Given the description of an element on the screen output the (x, y) to click on. 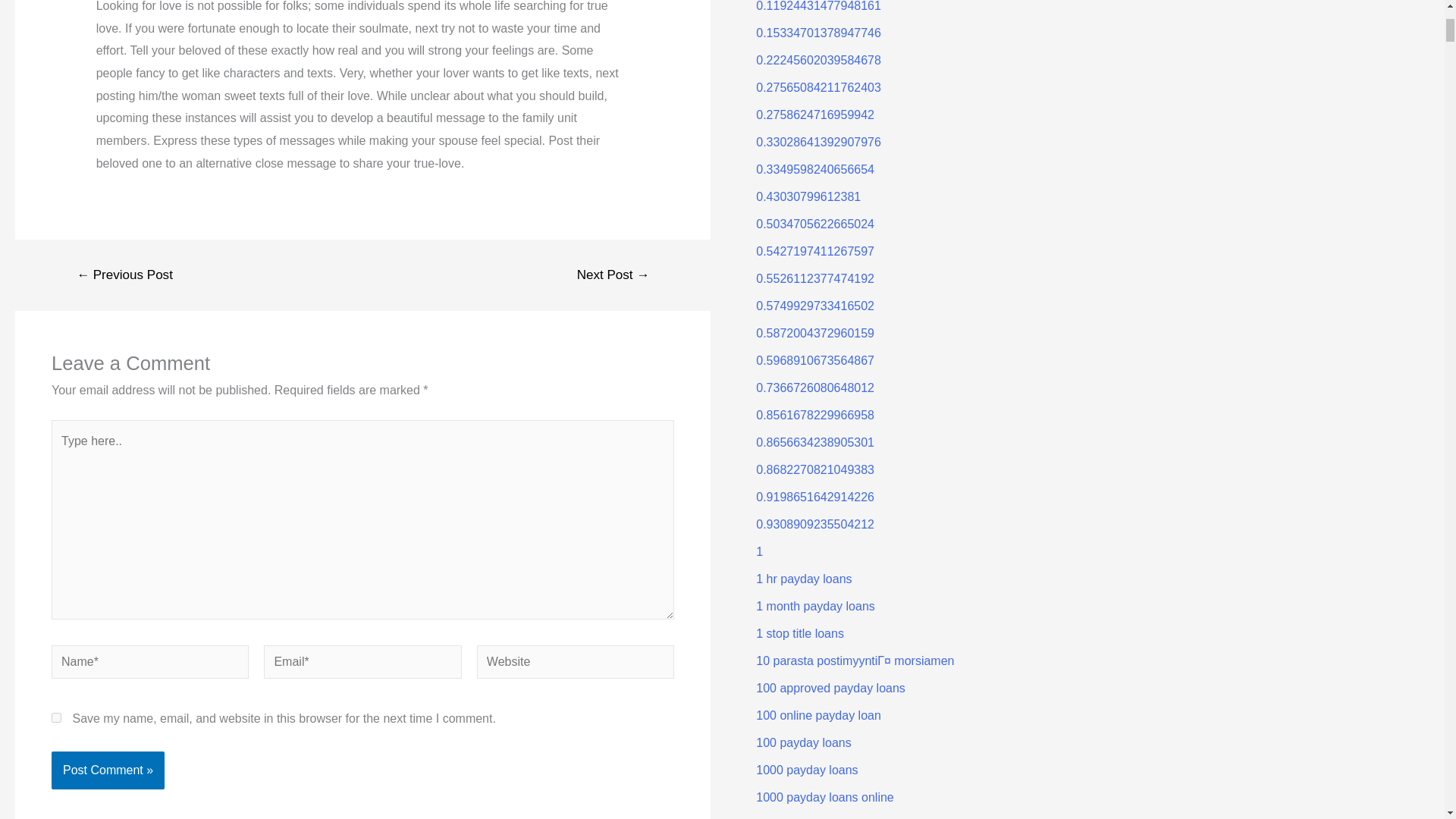
yes (55, 717)
